Given the description of an element on the screen output the (x, y) to click on. 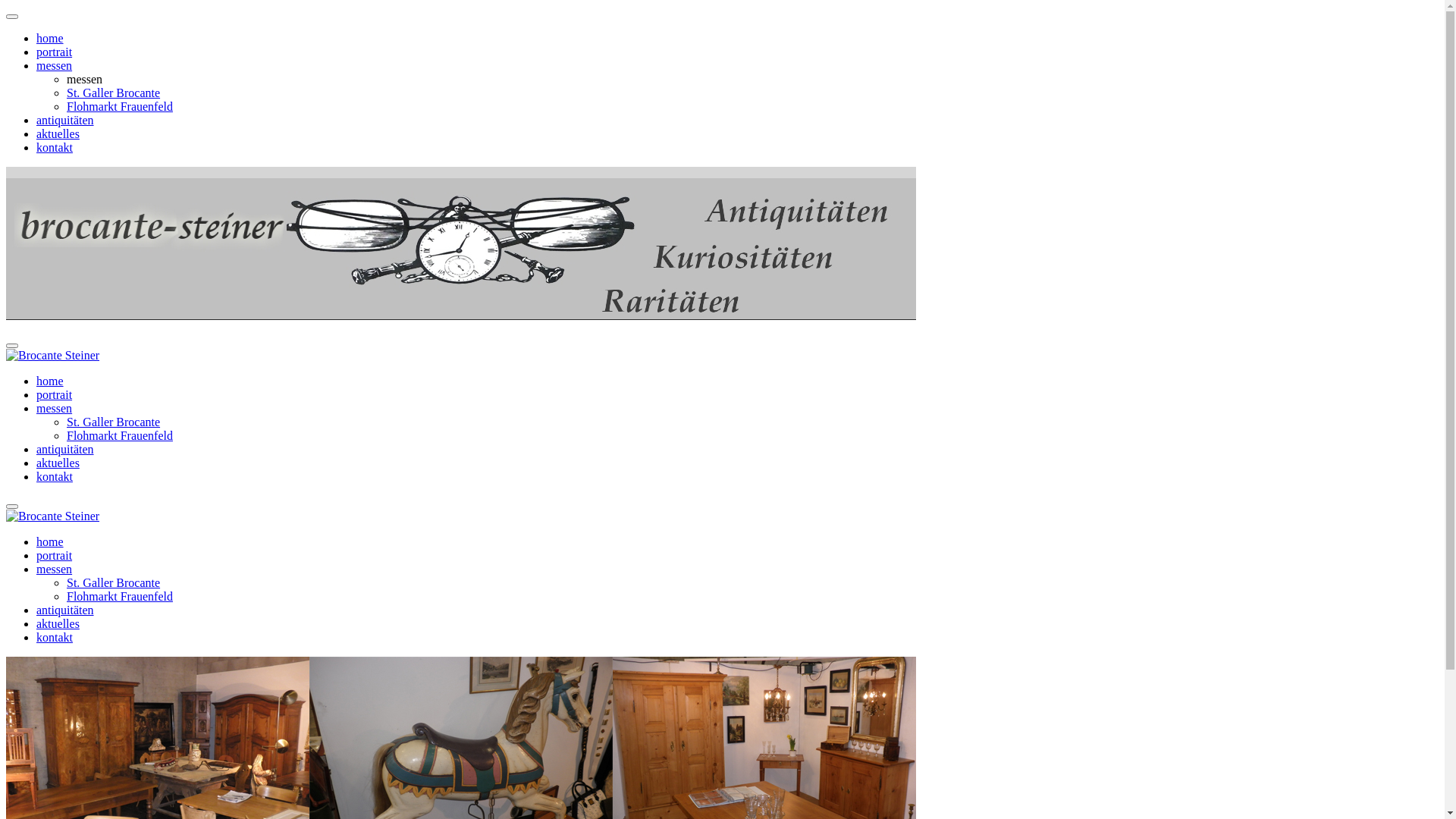
messen Element type: text (54, 568)
Flohmarkt Frauenfeld Element type: text (119, 106)
Brocante-Event Element type: hover (461, 243)
kontakt Element type: text (54, 476)
Flohmarkt Frauenfeld Element type: text (119, 595)
home Element type: text (49, 37)
portrait Element type: text (54, 555)
portrait Element type: text (54, 394)
messen Element type: text (54, 407)
messen Element type: text (54, 65)
Flohmarkt Frauenfeld Element type: text (119, 435)
St. Galler Brocante Element type: text (113, 92)
portrait Element type: text (54, 51)
aktuelles Element type: text (57, 133)
St. Galler Brocante Element type: text (113, 421)
aktuelles Element type: text (57, 462)
St. Galler Brocante Element type: text (113, 582)
aktuelles Element type: text (57, 623)
home Element type: text (49, 380)
kontakt Element type: text (54, 636)
kontakt Element type: text (54, 147)
home Element type: text (49, 541)
